Given the description of an element on the screen output the (x, y) to click on. 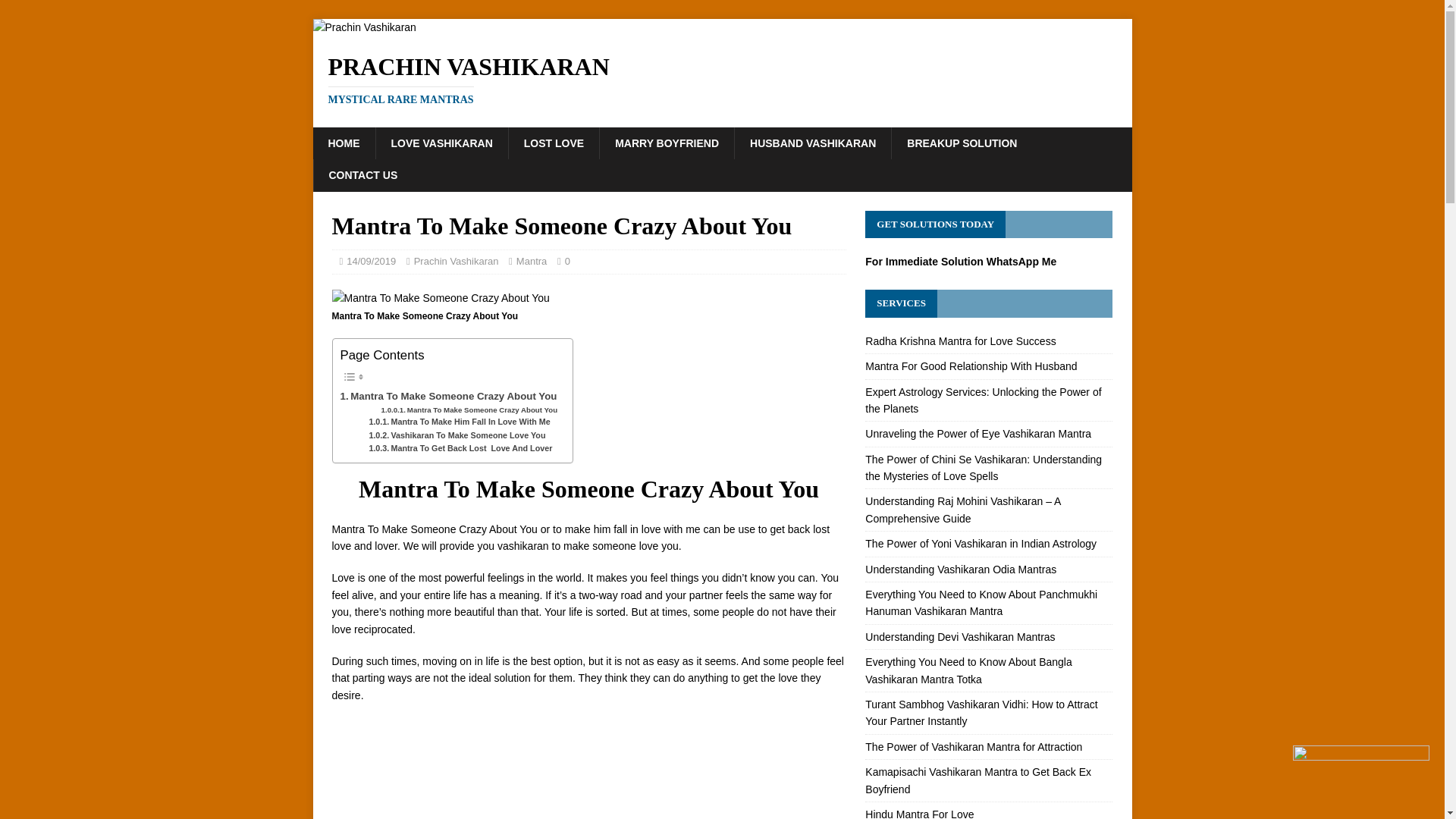
Mantra (531, 260)
Prachin Vashikaran (721, 79)
HOME (343, 142)
Understanding Vashikaran Odia Mantras (960, 569)
Prachin Vashikaran (721, 79)
MARRY BOYFRIEND (456, 260)
Vashikaran To Make Someone Love You (665, 142)
Mantra To Make Him Fall In Love With Me (456, 435)
